Given the description of an element on the screen output the (x, y) to click on. 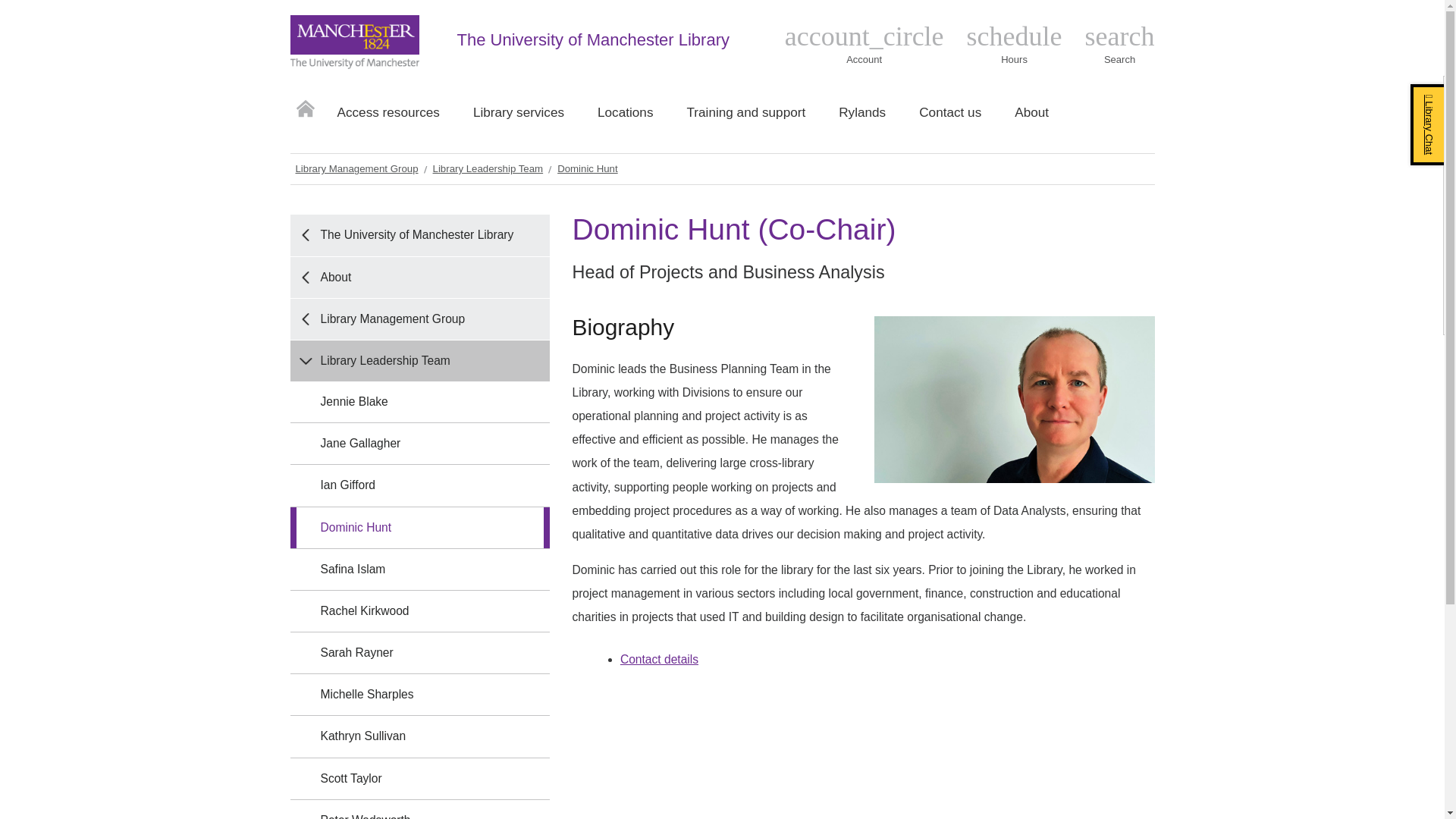
Hours (1014, 44)
Access resources (1119, 44)
The University of Manchester Library (1014, 44)
